Given the description of an element on the screen output the (x, y) to click on. 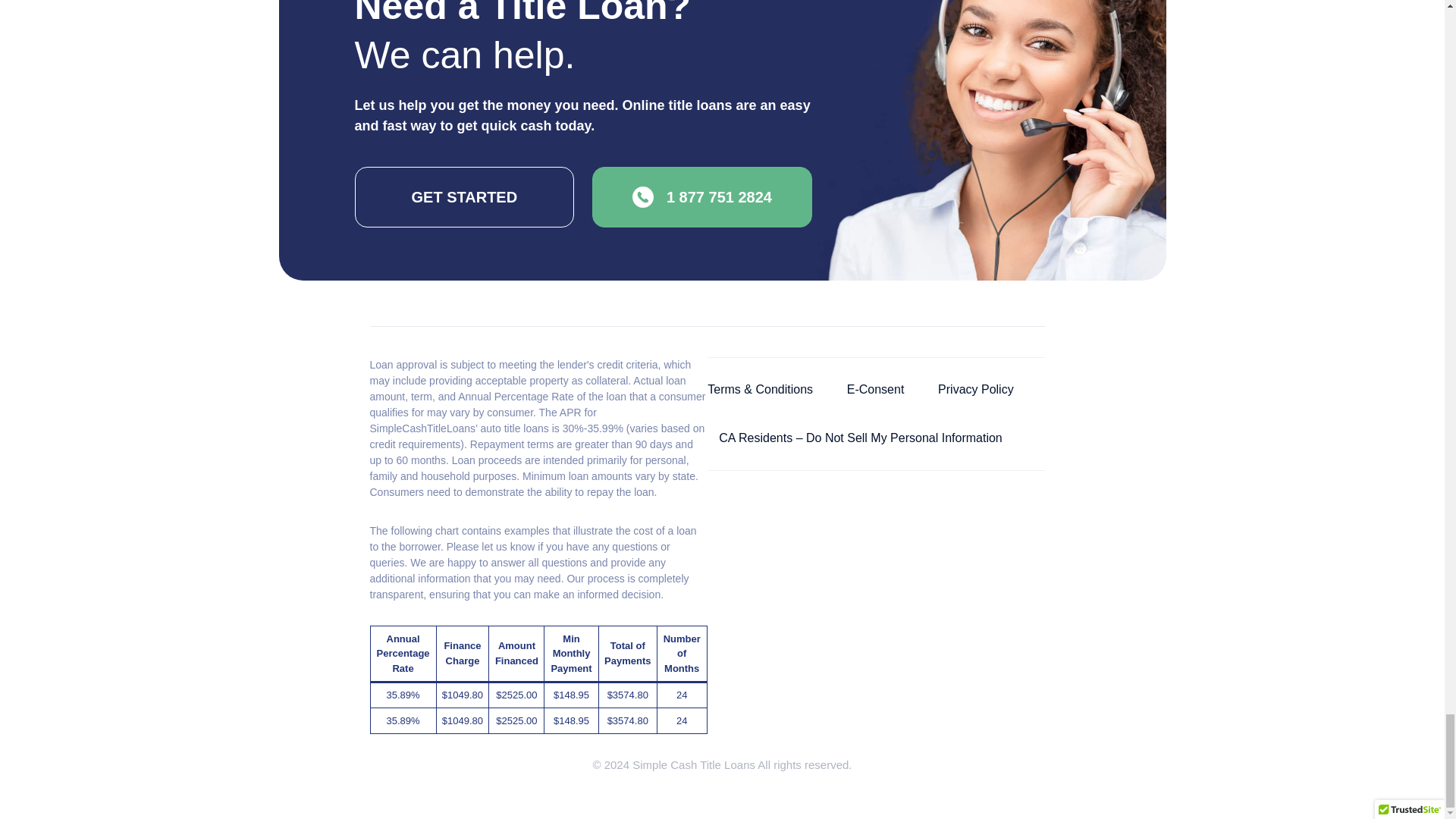
GET STARTED (465, 197)
1 877 751 2824 (702, 197)
